Given the description of an element on the screen output the (x, y) to click on. 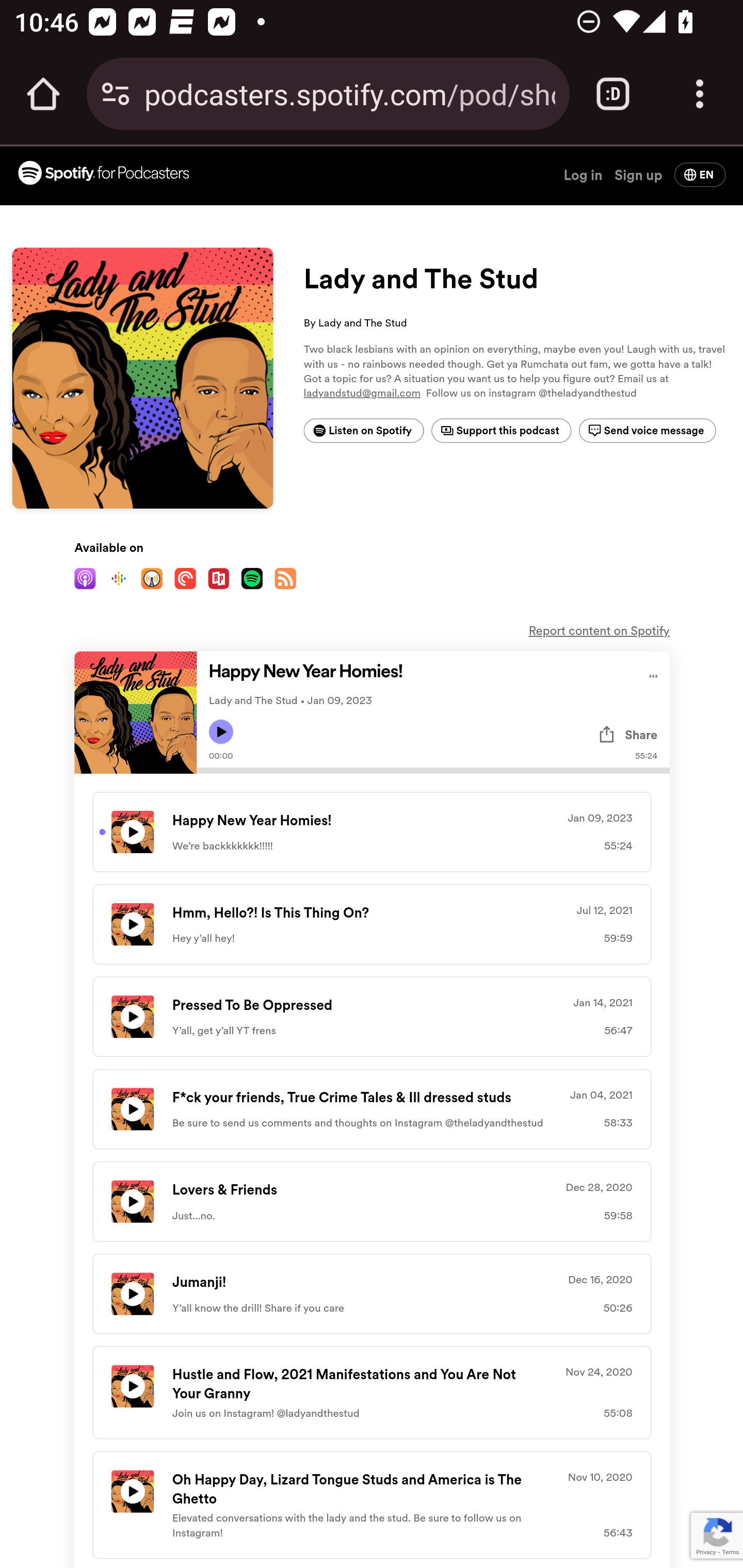
Open the home page (43, 93)
Connection is secure (115, 93)
Switch or close tabs (612, 93)
Customize and control Google Chrome (699, 93)
Spotify for Podcasters (103, 173)
Change language (699, 174)
Log in (582, 173)
Sign up (637, 173)
ladyandstud@gmail.com (362, 393)
Listen on Spotify (363, 430)
Support this podcast (500, 430)
Send voice message (647, 430)
Apple Podcasts Logo (84, 579)
Google Podcasts Logo (117, 579)
Overcast Logo (151, 579)
Pocket Casts Logo (184, 579)
RadioPublic Logo (218, 579)
Spotify Logo (251, 579)
rss (285, 579)
Report content on Spotify (599, 630)
Play audio (653, 673)
Play icon (221, 731)
Share (627, 734)
Play icon (131, 831)
Play icon (131, 923)
Play icon (131, 1015)
Play icon (131, 1108)
Play icon (131, 1200)
Play icon (131, 1293)
Play icon (131, 1385)
Play icon (131, 1490)
